Given the description of an element on the screen output the (x, y) to click on. 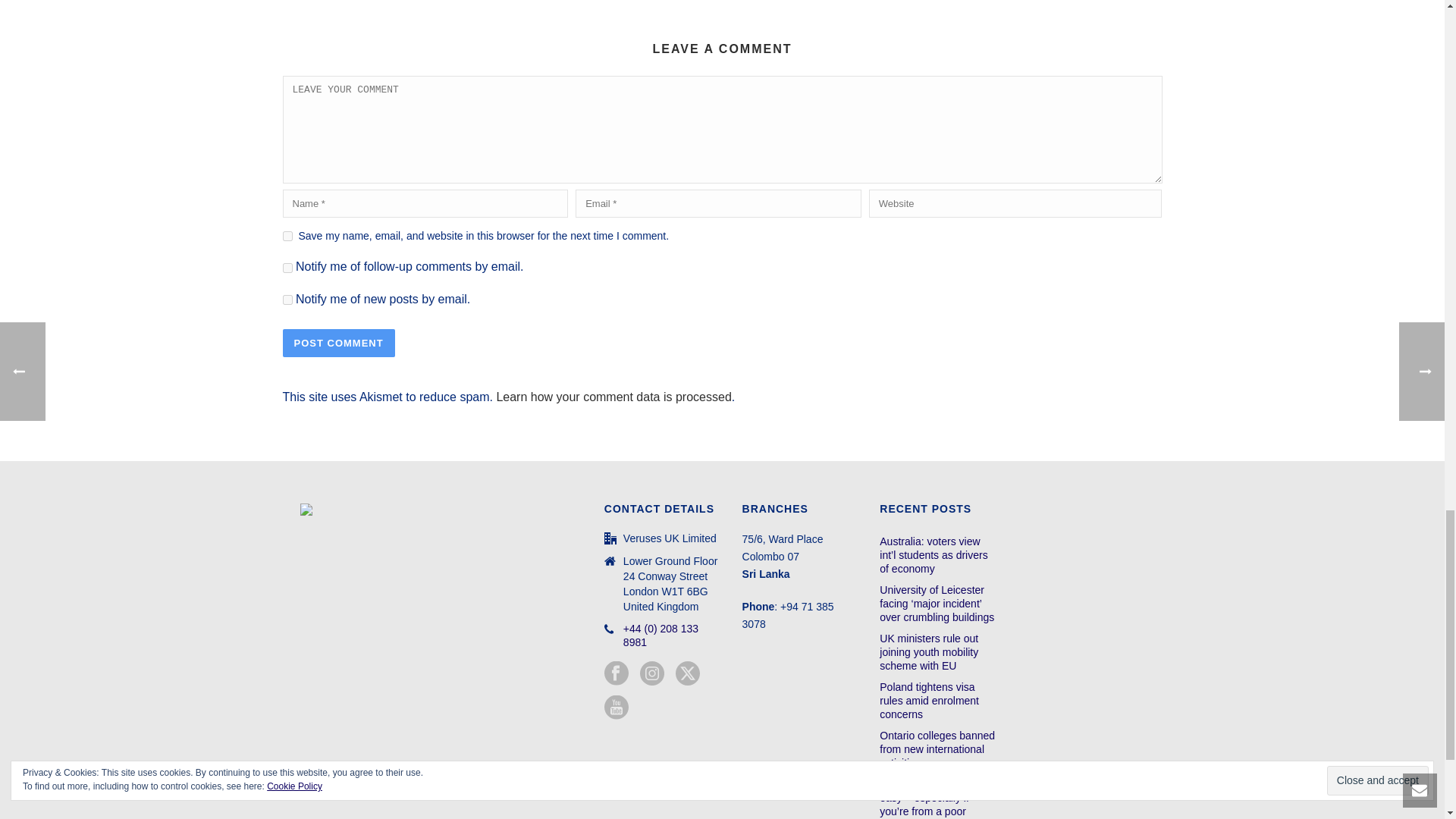
POST COMMENT (338, 343)
Follow Us on instagram (651, 673)
subscribe (287, 299)
Follow Us on twitter (687, 673)
yes (287, 235)
Follow Us on facebook (616, 673)
subscribe (287, 267)
Follow Us on youtube (616, 708)
